Given the description of an element on the screen output the (x, y) to click on. 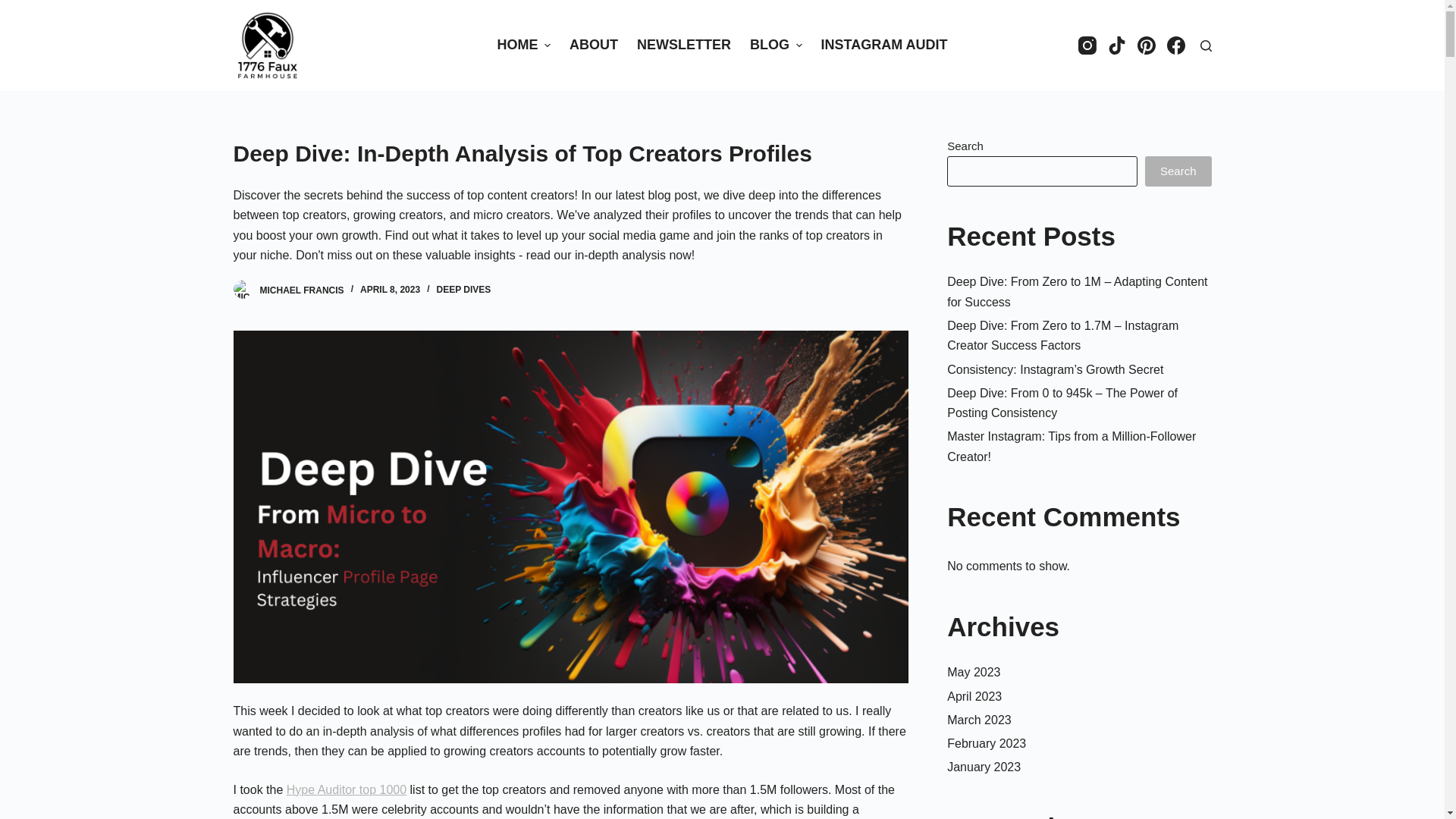
BLOG Element type: text (775, 45)
MICHAEL FRANCIS Element type: text (301, 289)
Search Element type: text (1178, 171)
March 2023 Element type: text (979, 719)
April 2023 Element type: text (974, 696)
May 2023 Element type: text (973, 671)
January 2023 Element type: text (983, 766)
DEEP DIVES Element type: text (463, 289)
February 2023 Element type: text (986, 743)
INSTAGRAM AUDIT Element type: text (884, 45)
NEWSLETTER Element type: text (683, 45)
Master Instagram: Tips from a Million-Follower Creator! Element type: text (1071, 445)
Hype Auditor top 1000 Element type: text (346, 789)
ABOUT Element type: text (593, 45)
HOME Element type: text (523, 45)
Skip to content Element type: text (15, 7)
